Given the description of an element on the screen output the (x, y) to click on. 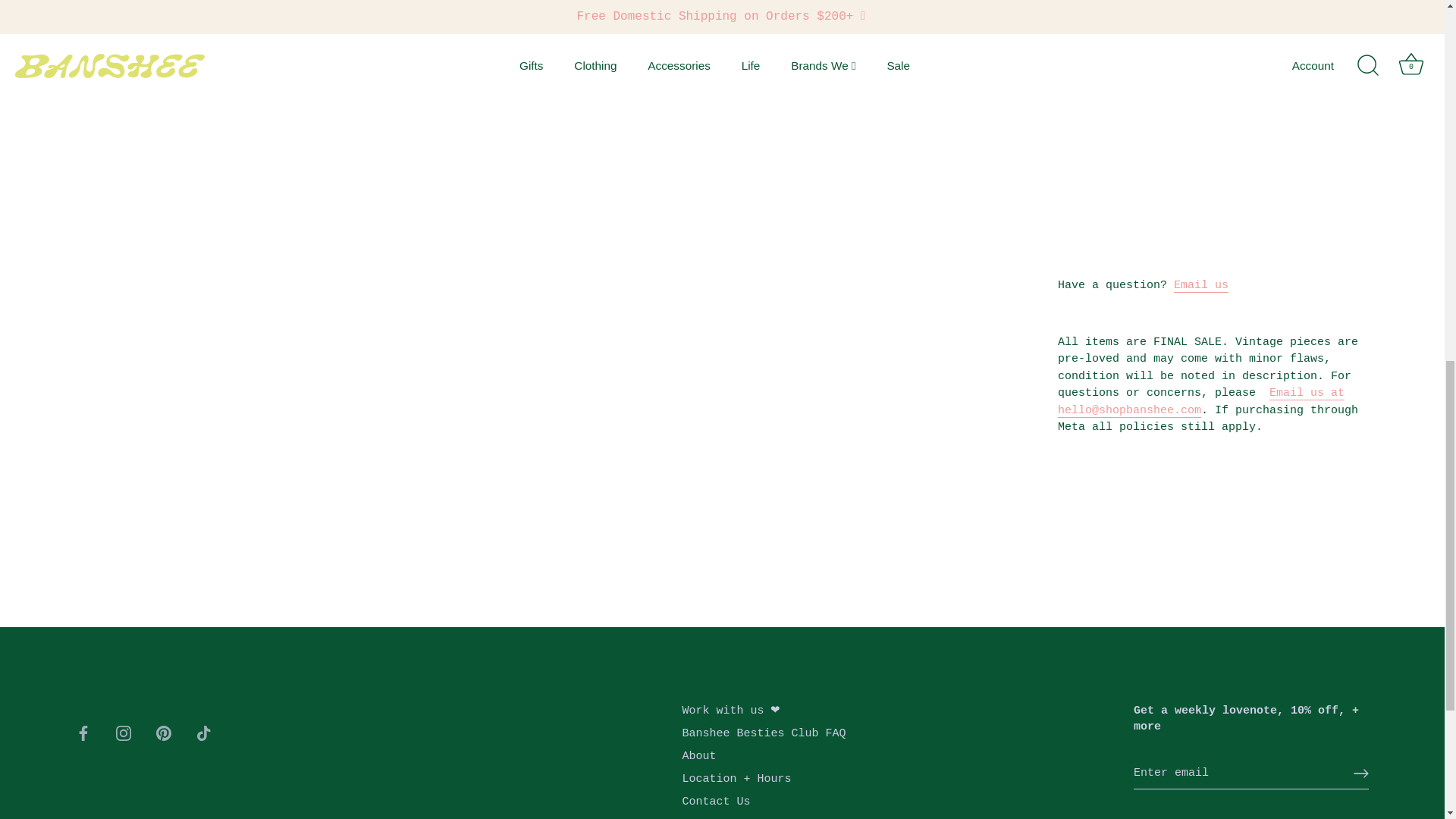
Pinterest (163, 733)
Instagram (123, 733)
RIGHT ARROW LONG (1361, 773)
